Given the description of an element on the screen output the (x, y) to click on. 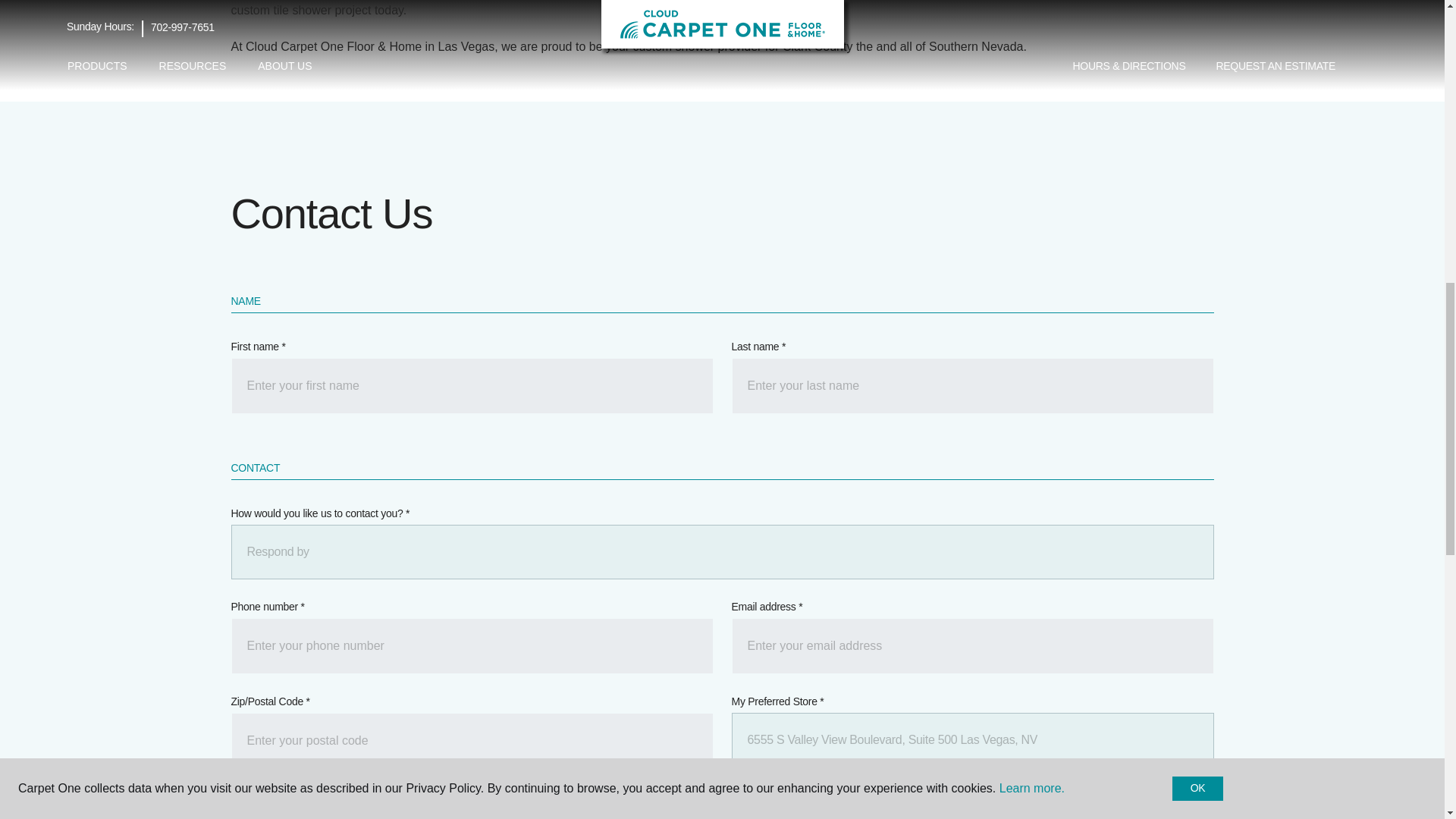
EmailAddress (971, 646)
CleanHomePhone (471, 646)
LastName (971, 385)
PostalCode (471, 740)
MyMessage (721, 813)
FirstName (471, 385)
